Given the description of an element on the screen output the (x, y) to click on. 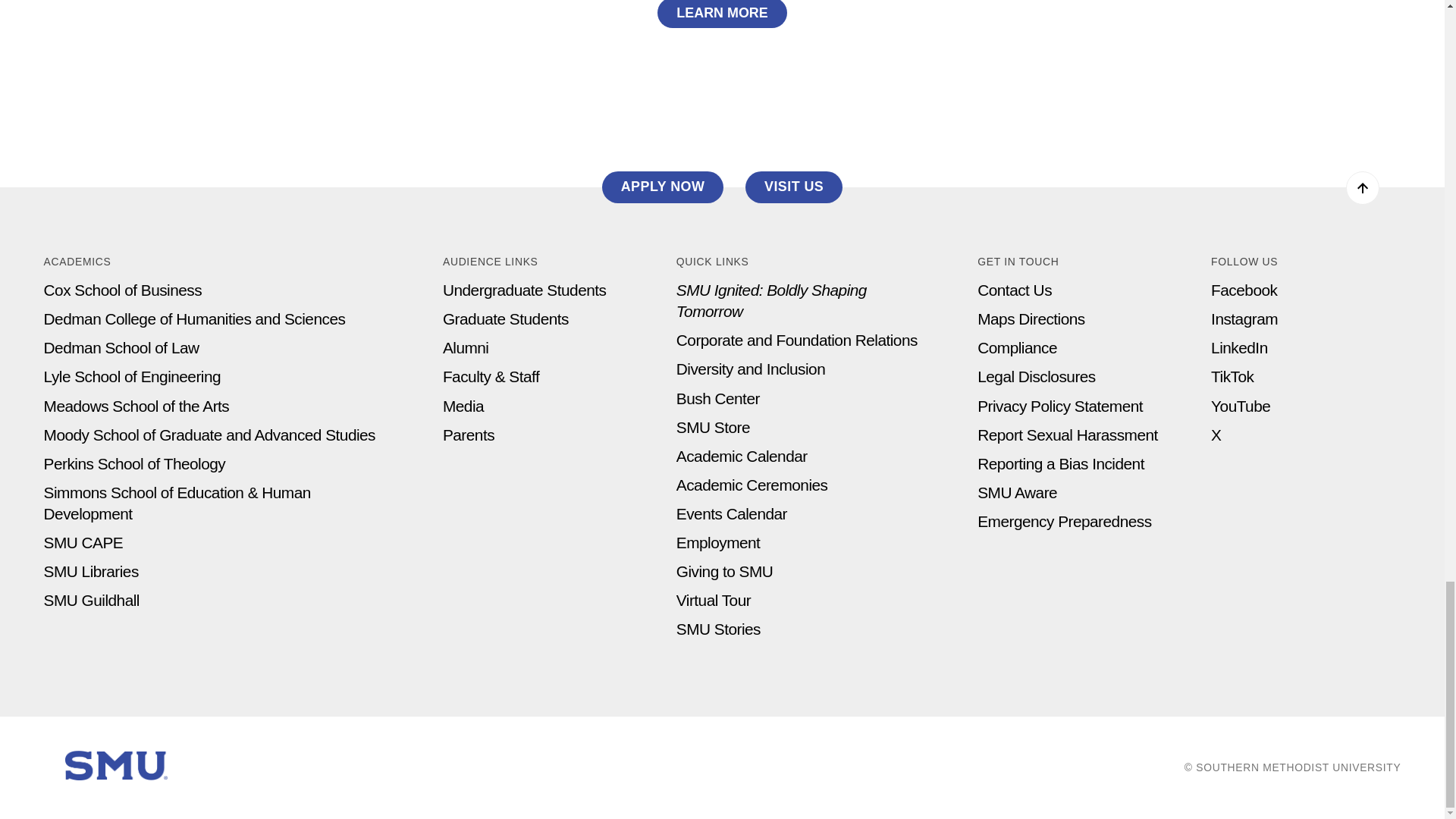
Undergraduate Students (524, 289)
APPLY NOW (662, 187)
Perkins School of Theology (134, 463)
Graduate Students (505, 318)
SMU CAPE (83, 542)
Dedman School of Law (121, 347)
Moody School of Graduate and Advanced Studies (209, 434)
Media (462, 405)
Parents (468, 434)
Dedman College of Humanities and Sciences (194, 318)
